Given the description of an element on the screen output the (x, y) to click on. 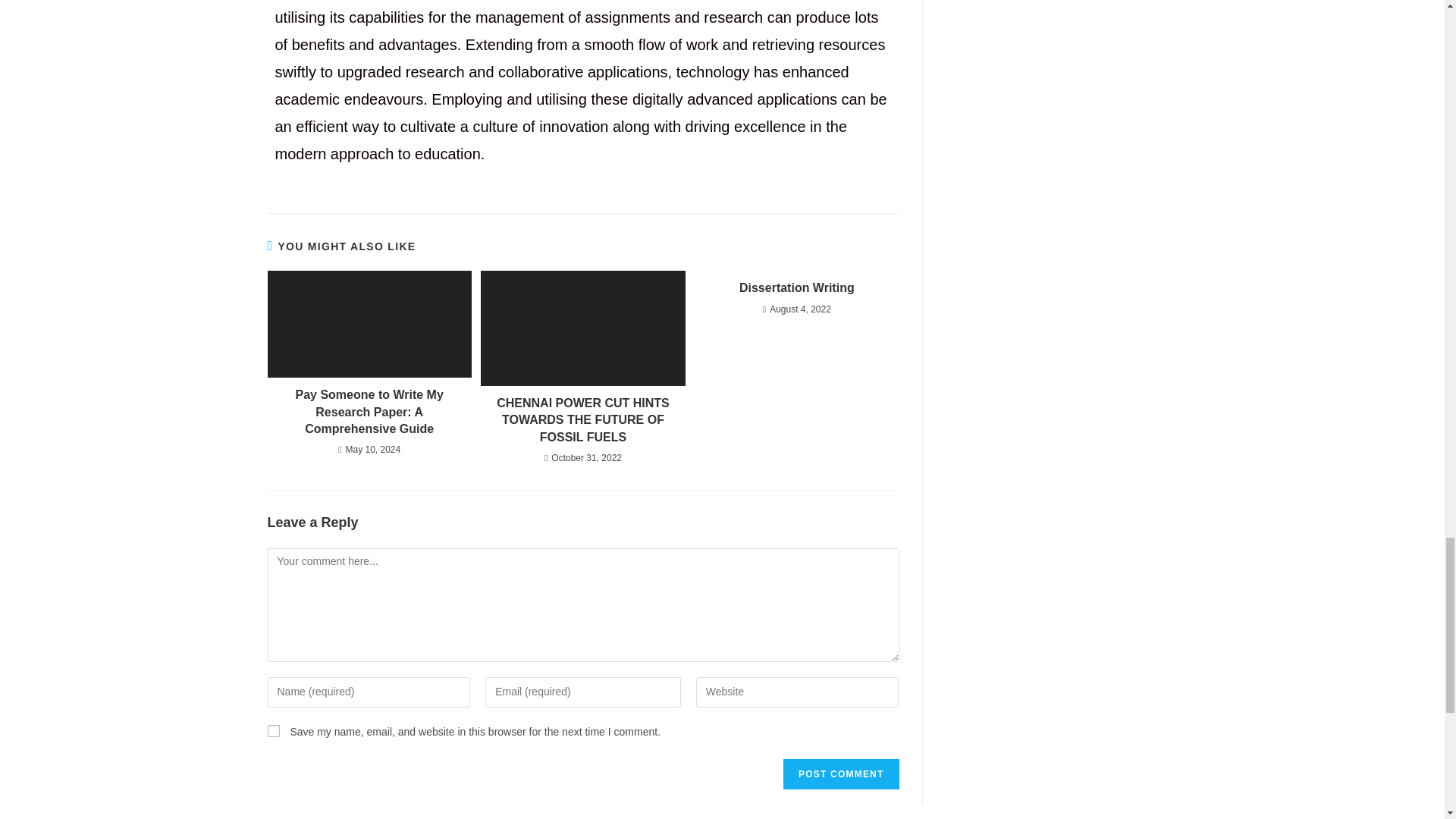
Post Comment (840, 774)
yes (272, 730)
